Given the description of an element on the screen output the (x, y) to click on. 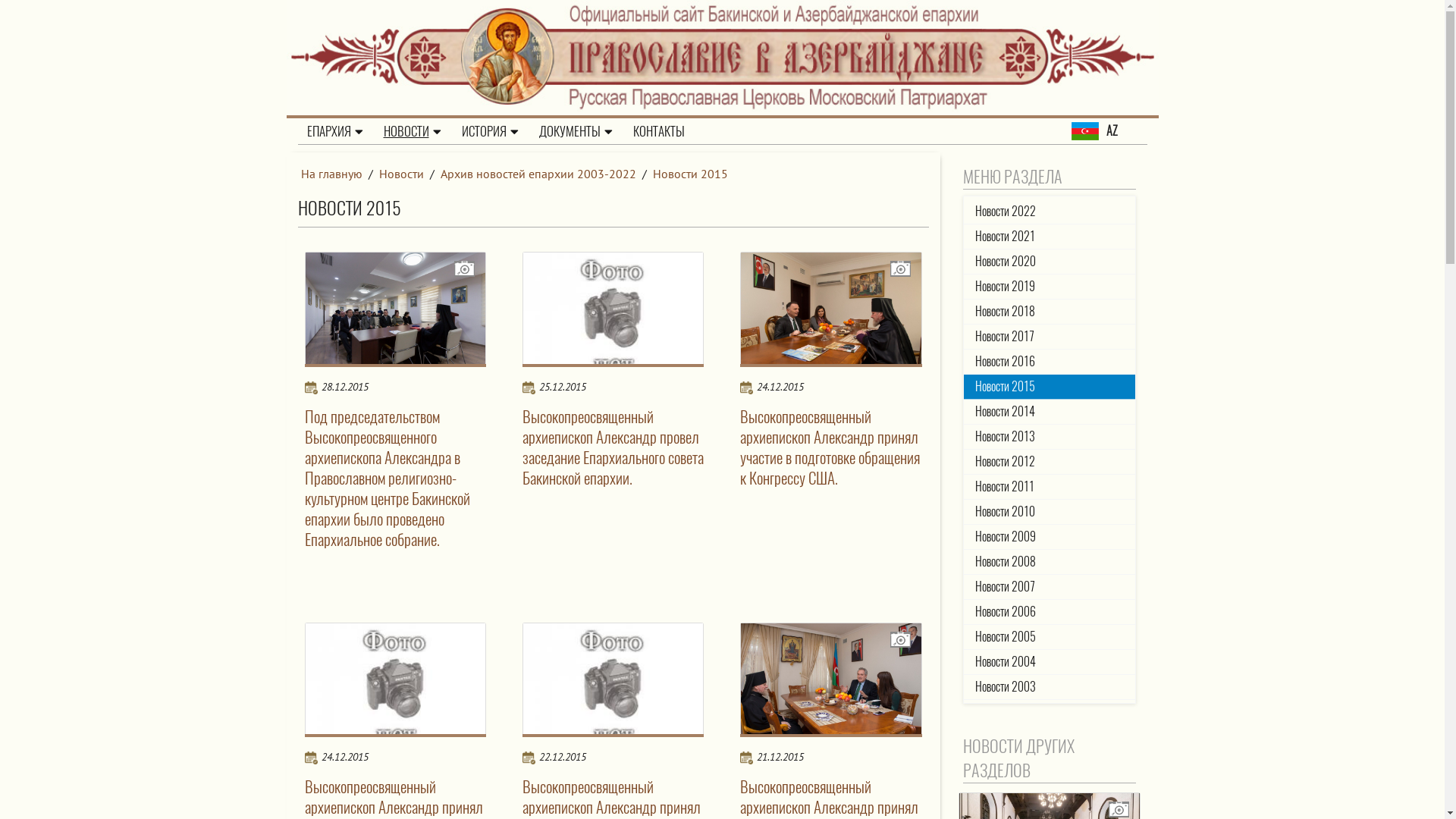
AZ Element type: text (1108, 131)
